Given the description of an element on the screen output the (x, y) to click on. 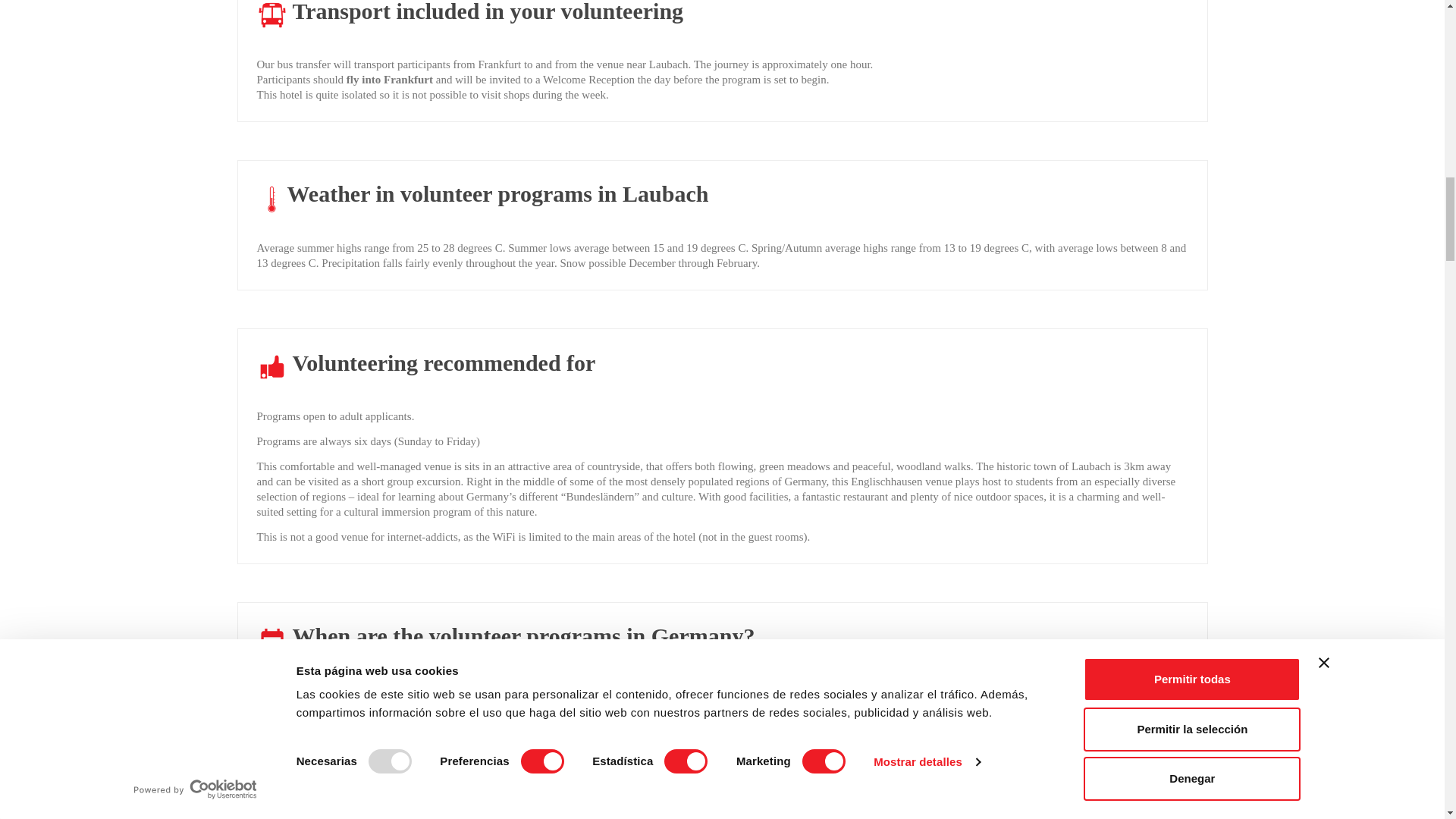
See calendar (721, 803)
